Given the description of an element on the screen output the (x, y) to click on. 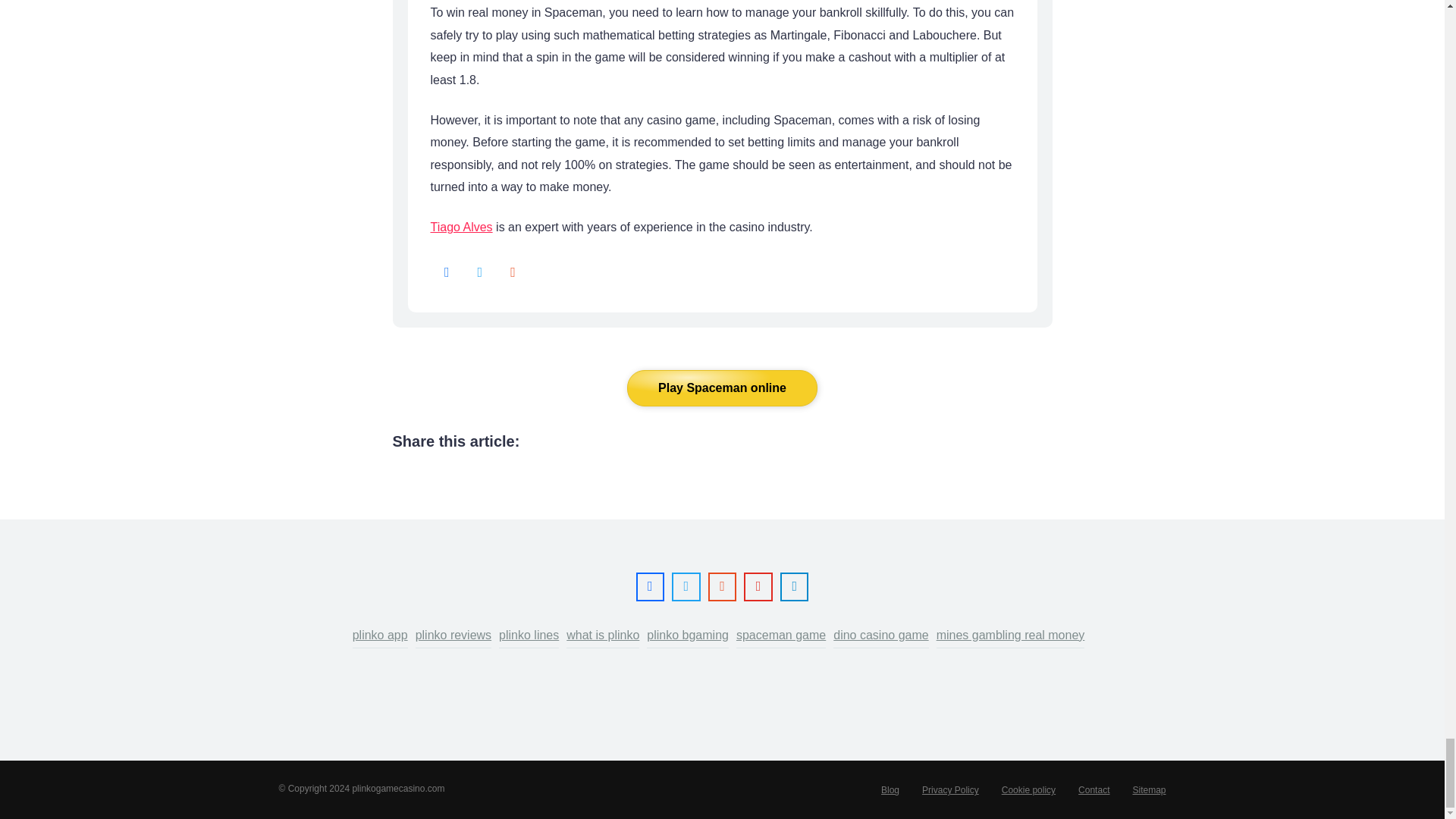
Reddit (512, 272)
Youtube (757, 586)
Twitter (686, 586)
Facebook (447, 272)
Facebook (649, 586)
Twitter (479, 272)
Telegram (794, 586)
Reddit (722, 586)
